Given the description of an element on the screen output the (x, y) to click on. 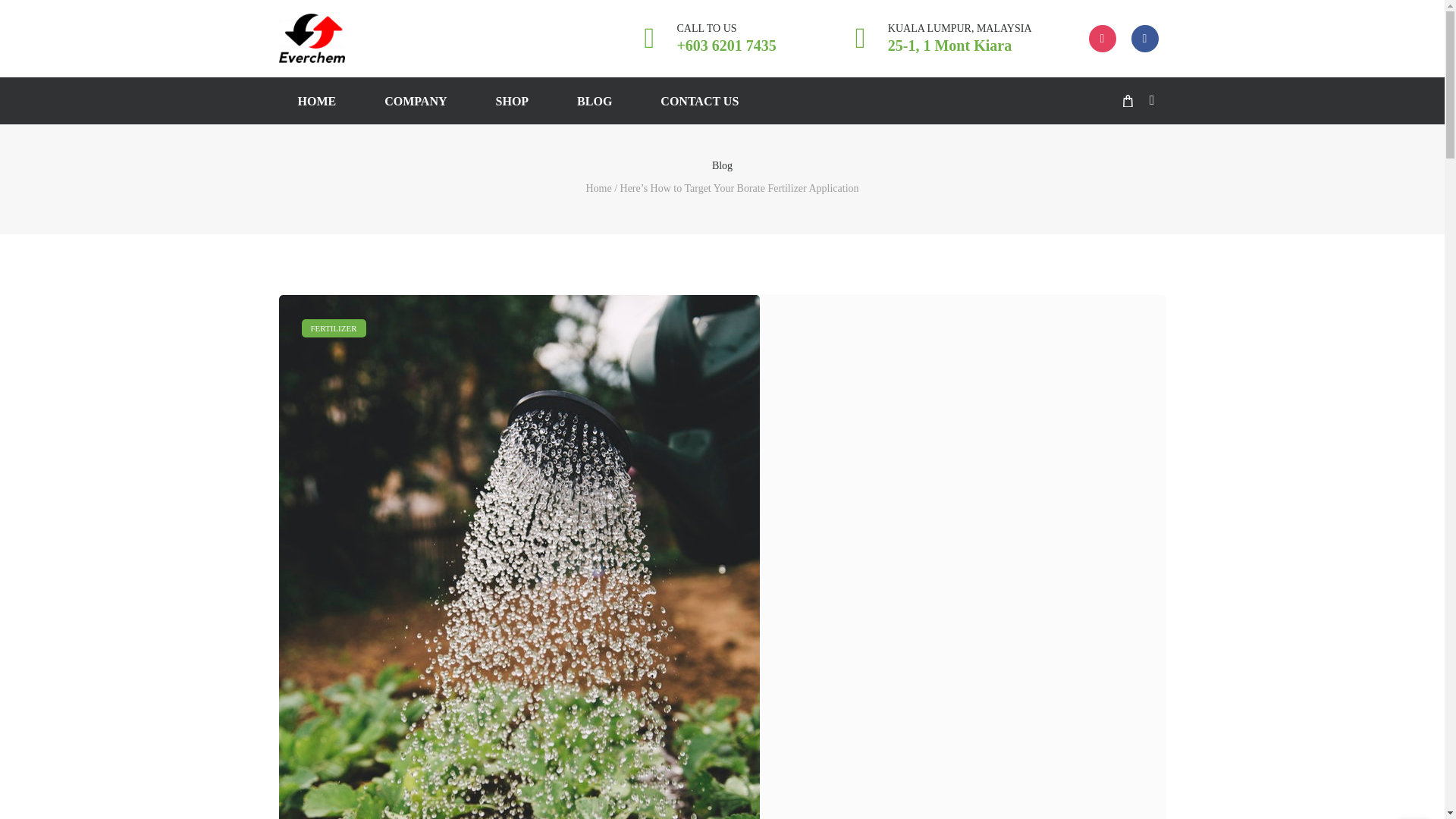
HOME (938, 38)
CONTACT US (317, 100)
View your shopping cart (699, 100)
BLOG (1127, 101)
SHOP (593, 100)
COMPANY (512, 100)
